Given the description of an element on the screen output the (x, y) to click on. 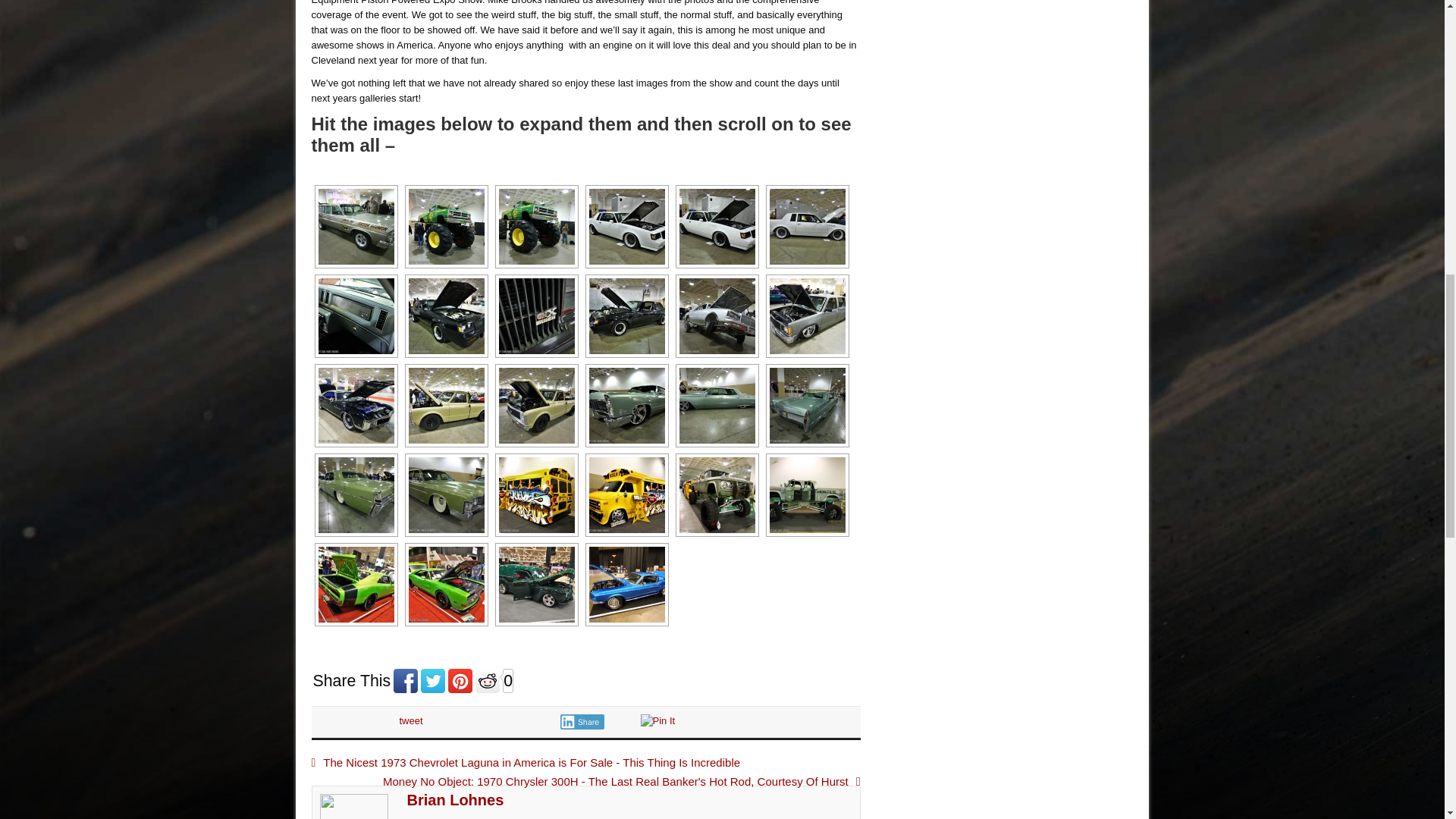
Summit Racing Equipment Piston Powered Expo306 (445, 226)
Summit Racing Equipment Piston Powered Expo305 (355, 226)
Summit Racing Equipment Piston Powered Expo307 (536, 226)
Summit Racing Equipment Piston Powered Expo308 (626, 226)
